Given the description of an element on the screen output the (x, y) to click on. 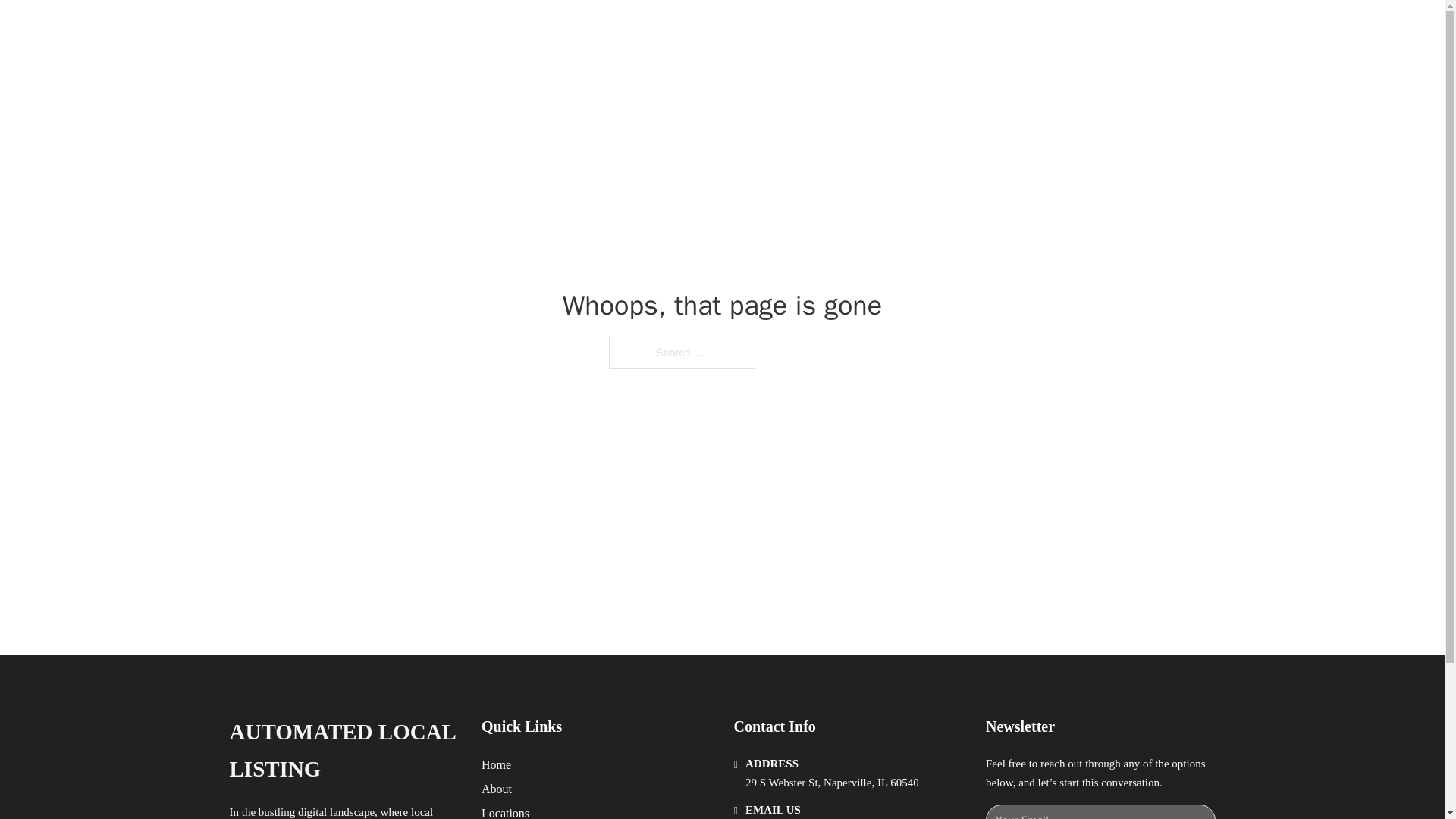
AUTOMATED LOCAL LISTING (343, 750)
AUTOMATED LOCAL LISTING (406, 31)
Locations (505, 811)
Home (496, 764)
HOME (1025, 31)
About (496, 788)
LOCATIONS (1098, 31)
